Given the description of an element on the screen output the (x, y) to click on. 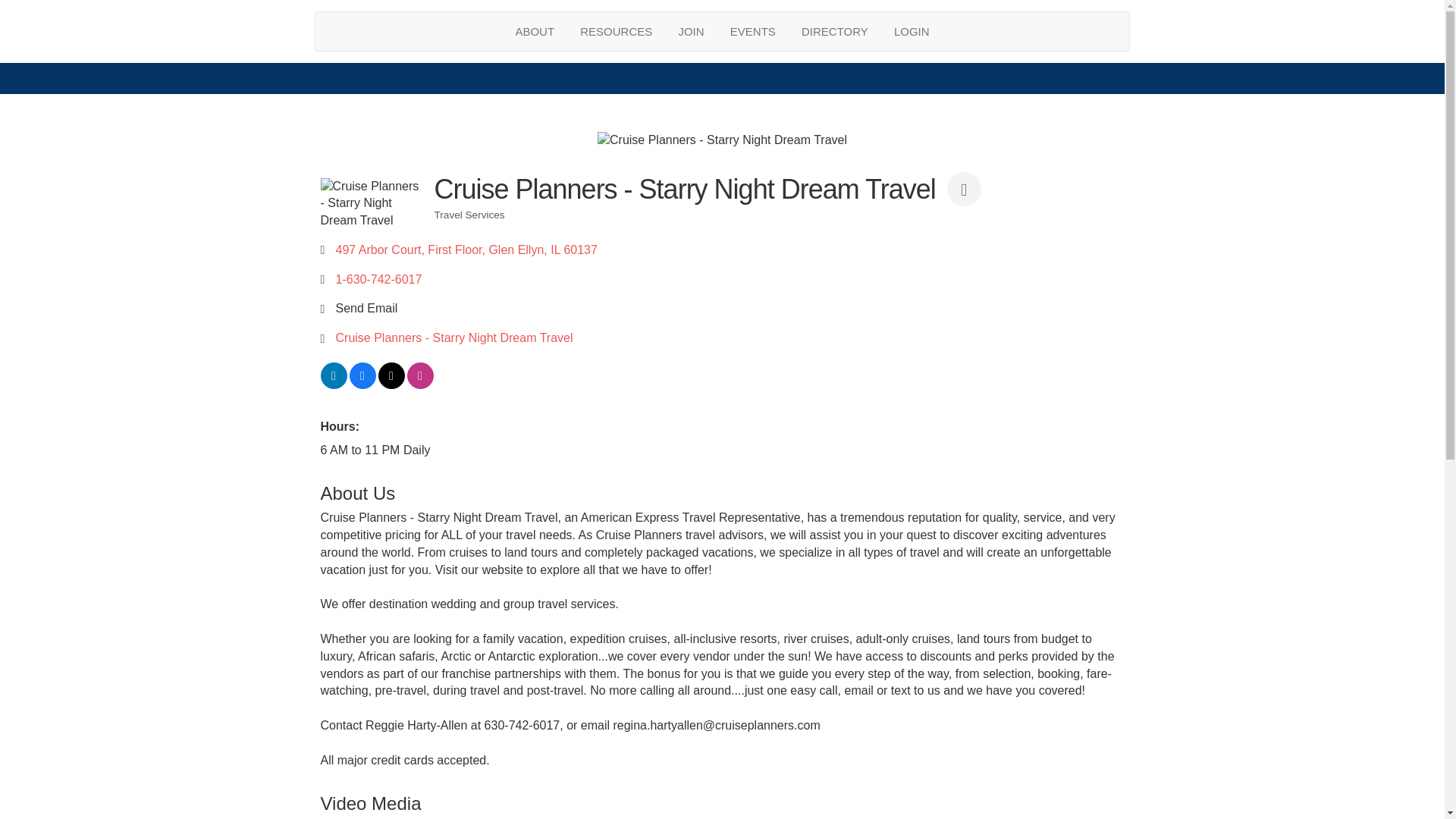
View on Instagram (419, 384)
View on Twitter (390, 384)
View on LinkedIn (333, 384)
ABOUT (534, 31)
View on Facebook (362, 384)
Cruise Planners - Starry Night Dream Travel (371, 203)
Cruise Planners - Starry Night Dream Travel (721, 140)
